Given the description of an element on the screen output the (x, y) to click on. 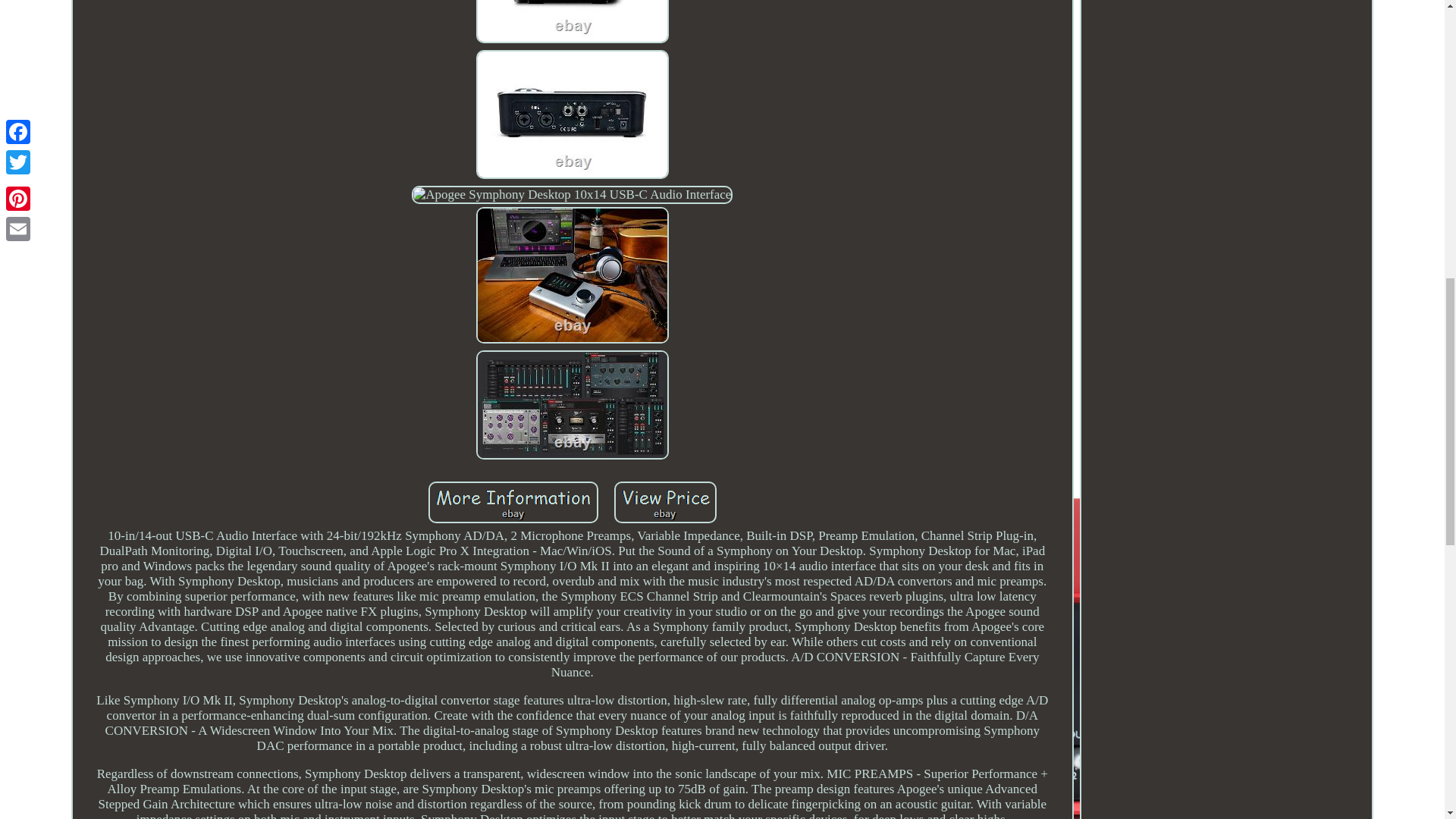
Apogee Symphony Desktop 10x14 USB-C Audio Interface (572, 21)
Apogee Symphony Desktop 10x14 USB-C Audio Interface (572, 404)
Apogee Symphony Desktop 10x14 USB-C Audio Interface (572, 194)
Apogee Symphony Desktop 10x14 USB-C Audio Interface (665, 502)
Apogee Symphony Desktop 10x14 USB-C Audio Interface (572, 114)
Apogee Symphony Desktop 10x14 USB-C Audio Interface (572, 275)
Apogee Symphony Desktop 10x14 USB-C Audio Interface (513, 502)
